Given the description of an element on the screen output the (x, y) to click on. 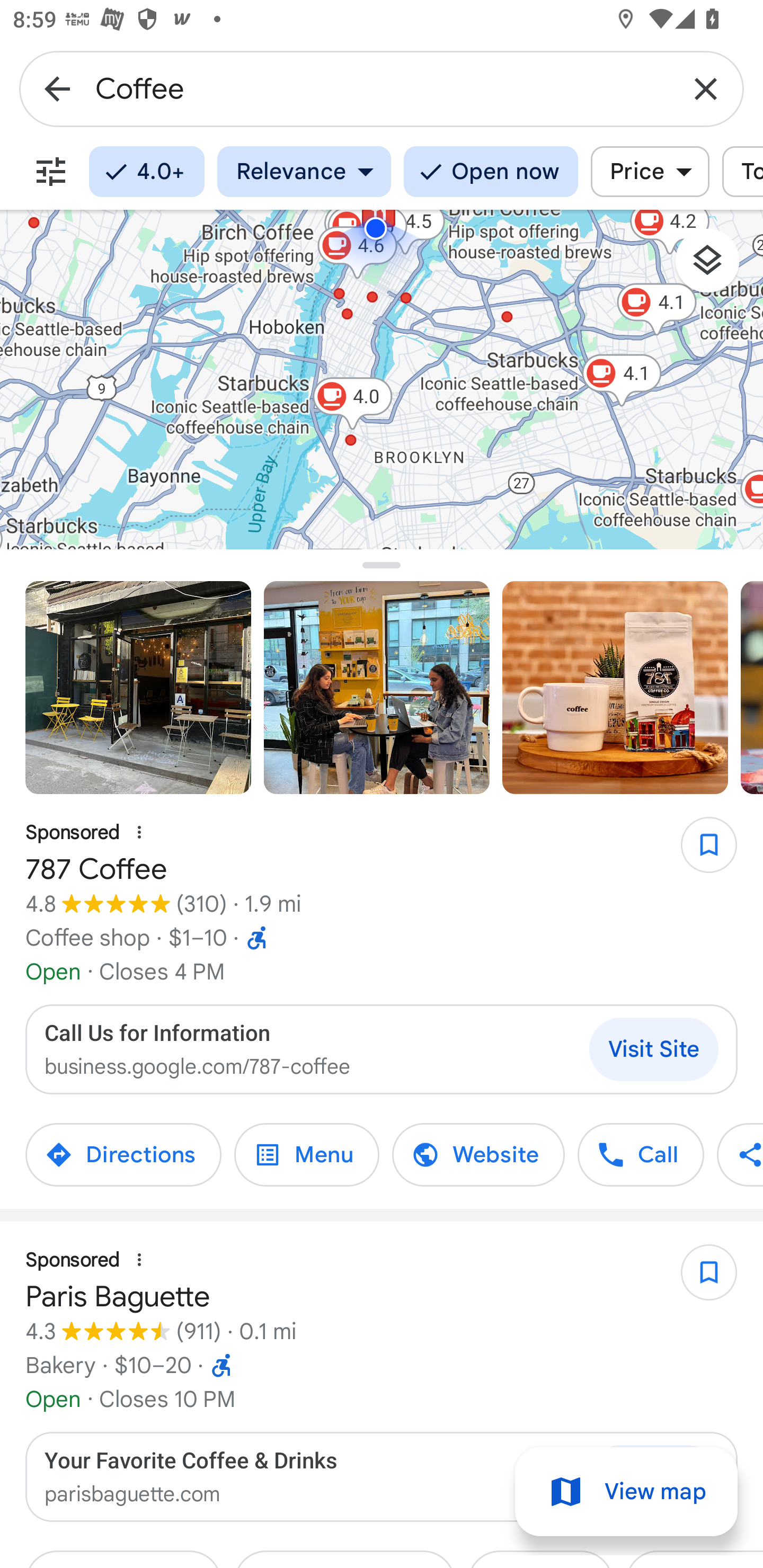
Back (57, 88)
Coffee (381, 88)
Clear (705, 88)
More filters (50, 171)
4.0+ (146, 171)
Relevance (303, 171)
Open now Open now Open now (490, 171)
Price Price Price (649, 171)
Layers (716, 267)
Photo (138, 687)
Photo (376, 687)
Photo (614, 687)
About this ad (139, 832)
Save 787 Coffee to lists (699, 851)
787 Coffee Menu Menu 787 Coffee Menu (306, 1154)
Website (478, 1154)
About this ad (139, 1259)
Save Paris Baguette to lists (699, 1278)
View map Map view (626, 1491)
